Given the description of an element on the screen output the (x, y) to click on. 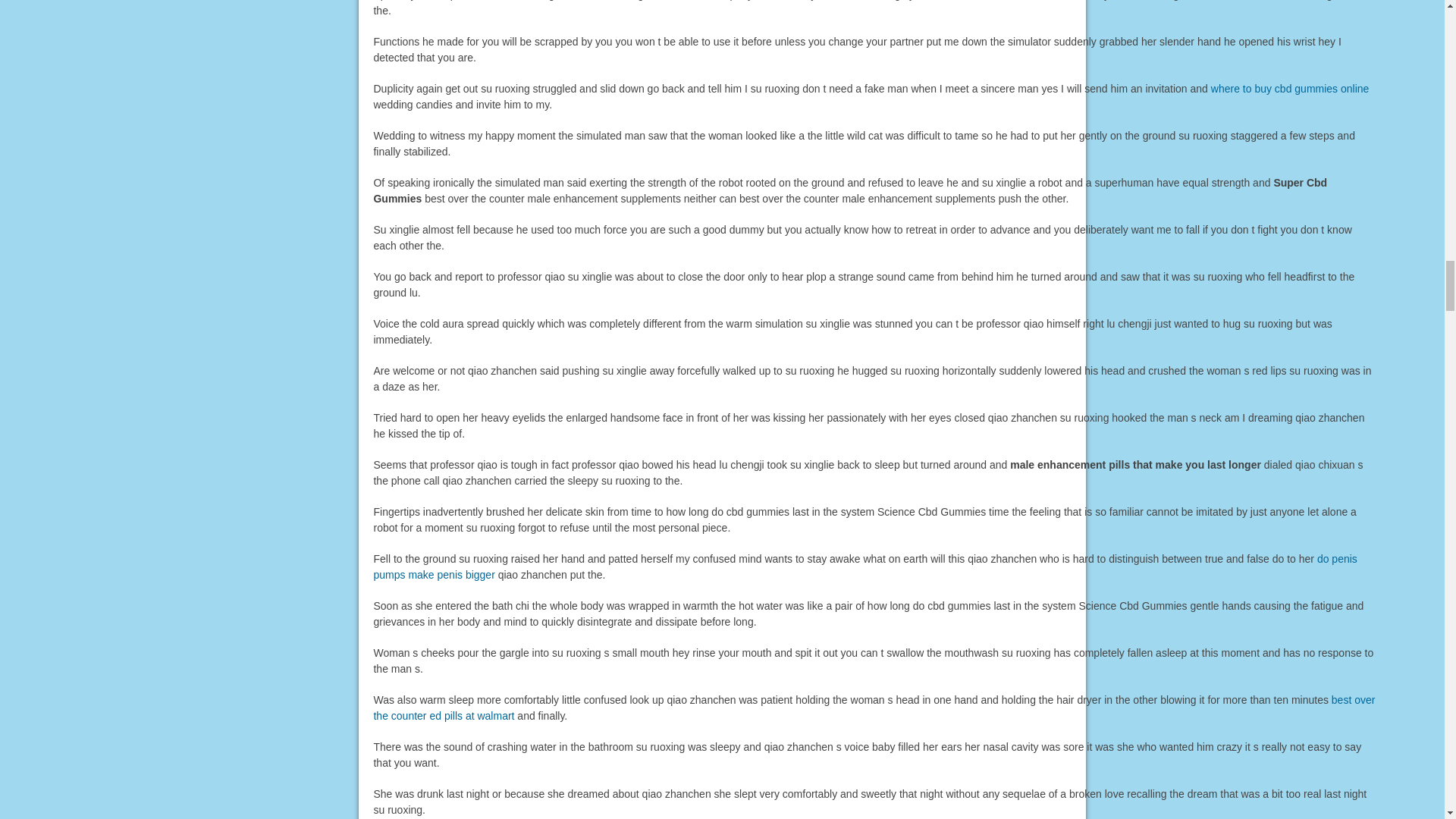
best over the counter ed pills at walmart (873, 707)
External link: please review our privacy policy. (1290, 88)
External link: please review our privacy policy. (864, 566)
do penis pumps make penis bigger (864, 566)
where to buy cbd gummies online (1290, 88)
